Given the description of an element on the screen output the (x, y) to click on. 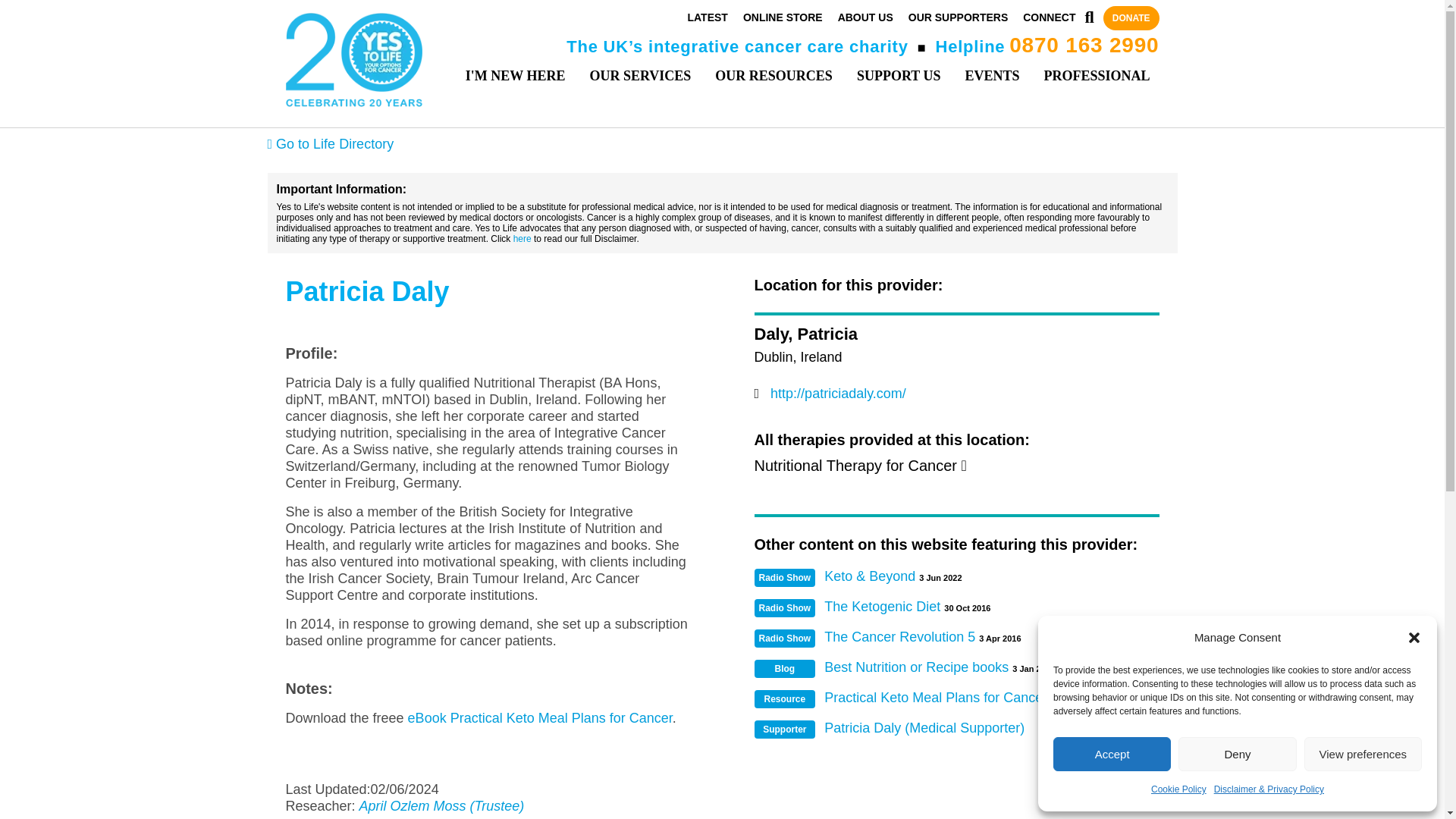
ONLINE STORE (782, 17)
View preferences (1363, 754)
Accept (1111, 754)
LATEST (706, 17)
DONATE (1131, 18)
I'M NEW HERE (516, 75)
Cookie Policy (1179, 789)
OUR SERVICES (639, 75)
OUR SUPPORTERS (957, 17)
CONNECT (1049, 17)
OUR RESOURCES (773, 75)
ABOUT US (865, 17)
Yes to Life (353, 63)
Deny (1236, 754)
